Given the description of an element on the screen output the (x, y) to click on. 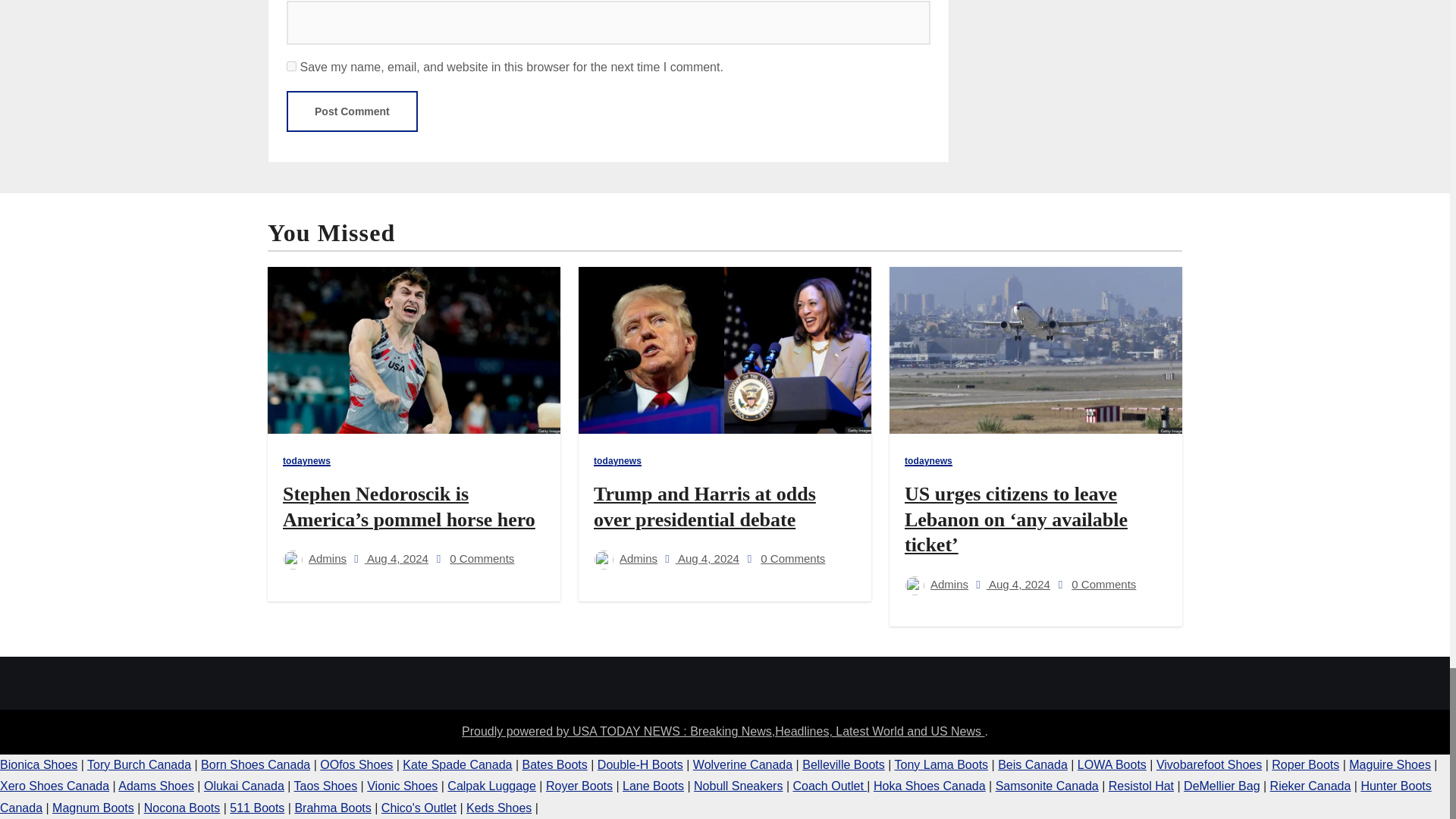
Post Comment (351, 110)
yes (291, 66)
